Given the description of an element on the screen output the (x, y) to click on. 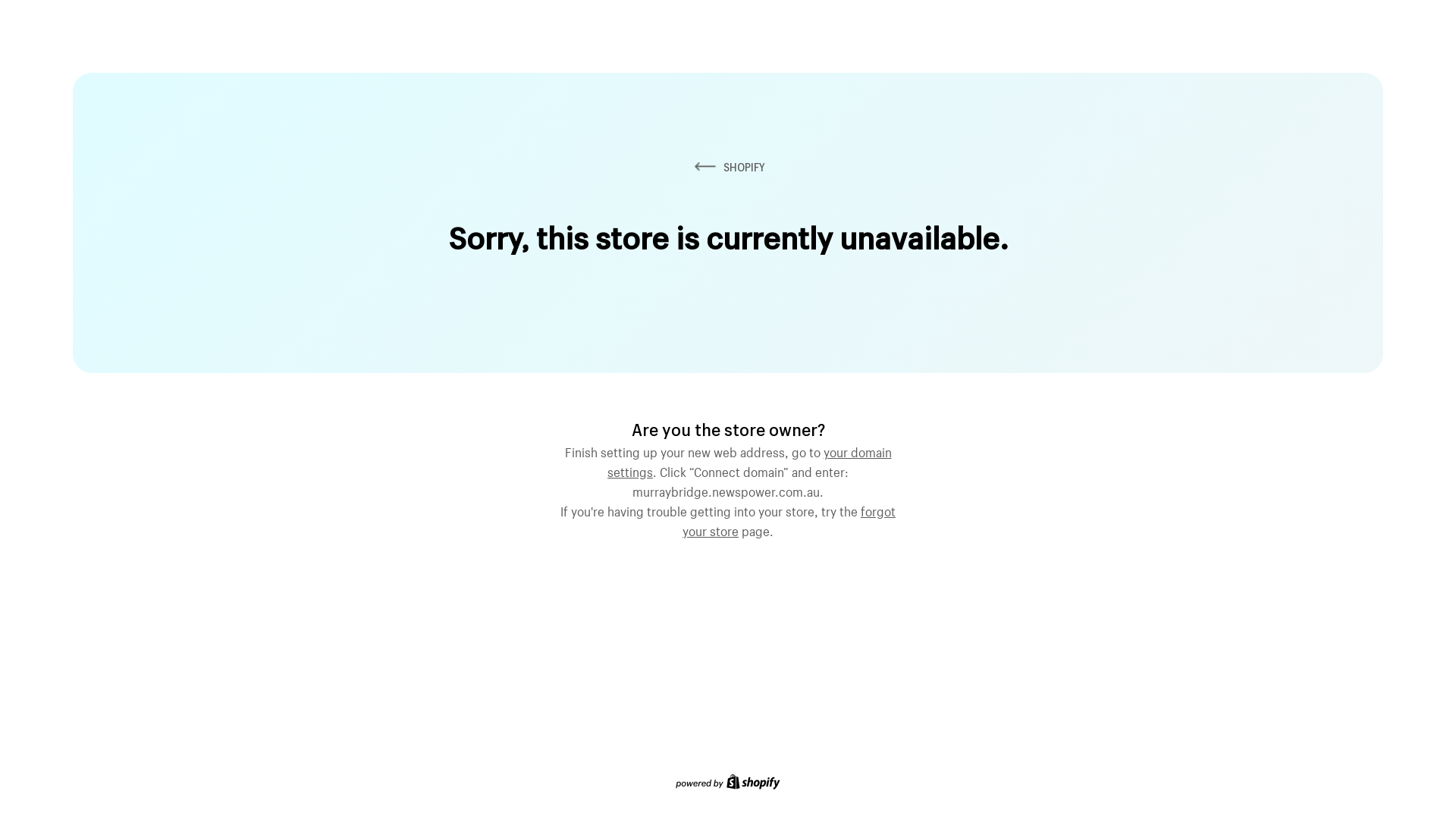
SHOPIFY Element type: text (727, 167)
your domain settings Element type: text (749, 460)
forgot your store Element type: text (788, 519)
